Given the description of an element on the screen output the (x, y) to click on. 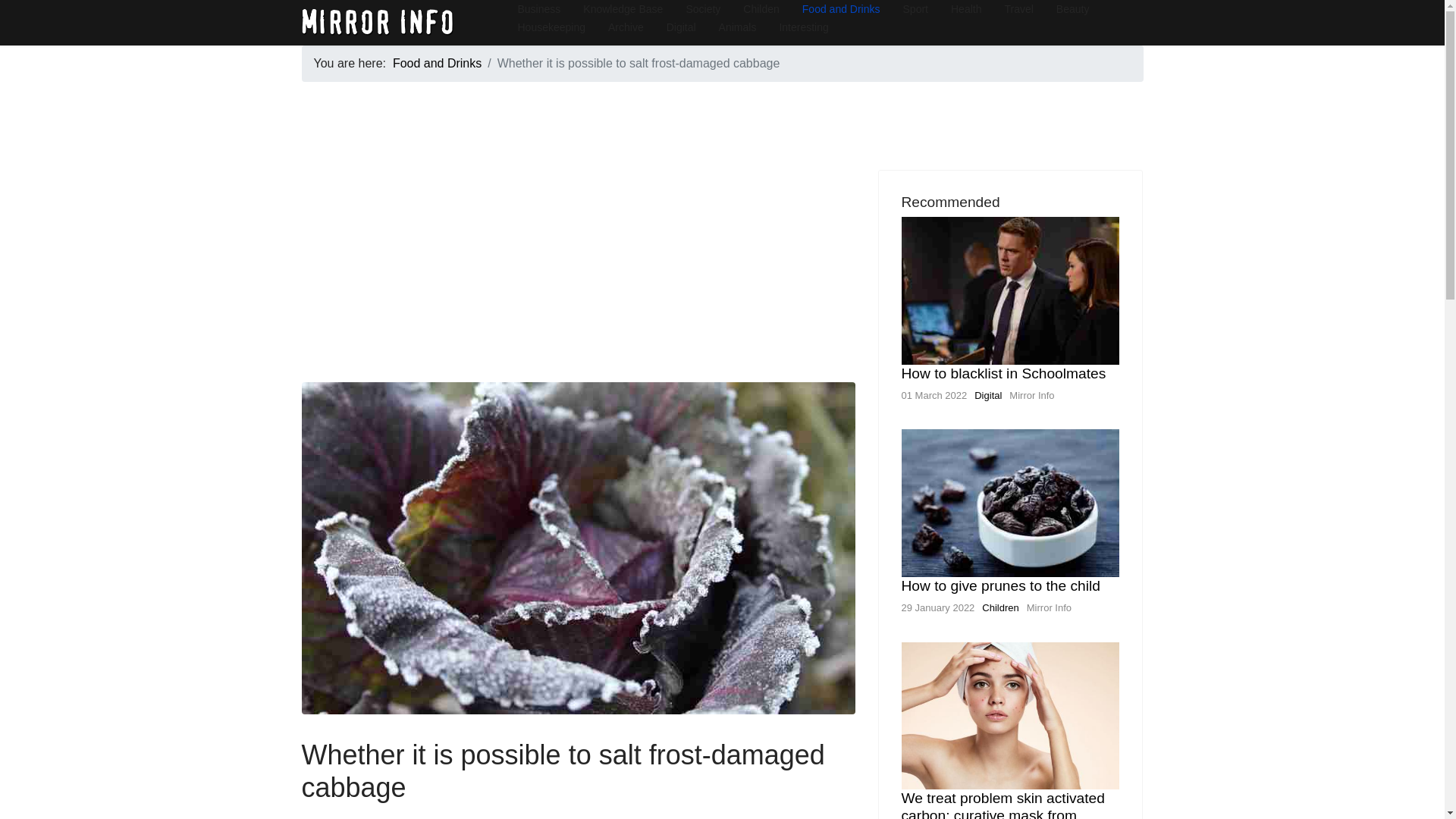
Category: Food and Drinks (337, 818)
How to blacklist in Schoolmates (1003, 373)
Digital (987, 395)
Food and Drinks (437, 62)
How to give prunes to the child (1000, 585)
Advertisement (578, 275)
Children (999, 607)
